Given the description of an element on the screen output the (x, y) to click on. 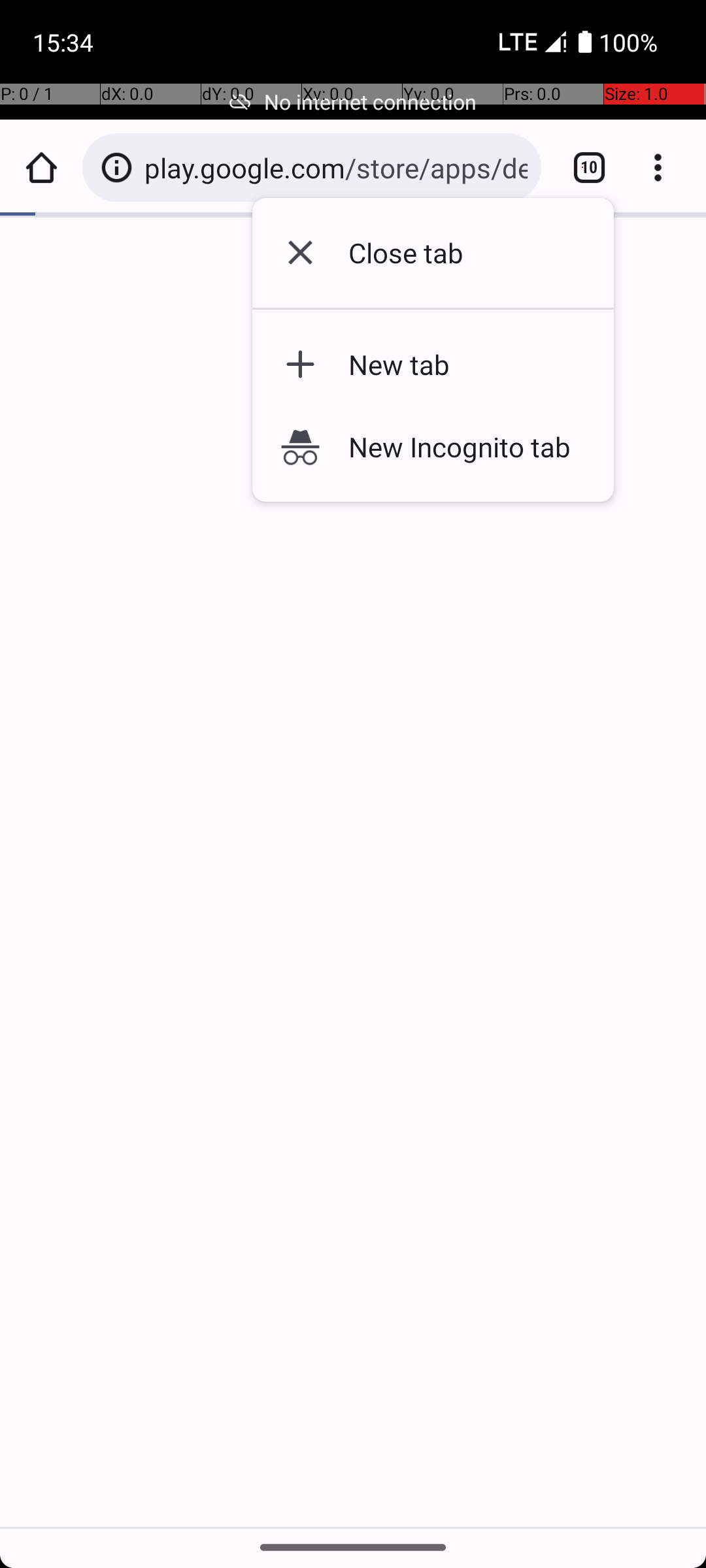
New tab Element type: android.widget.TextView (453, 363)
New Incognito tab Element type: android.widget.TextView (453, 446)
